Given the description of an element on the screen output the (x, y) to click on. 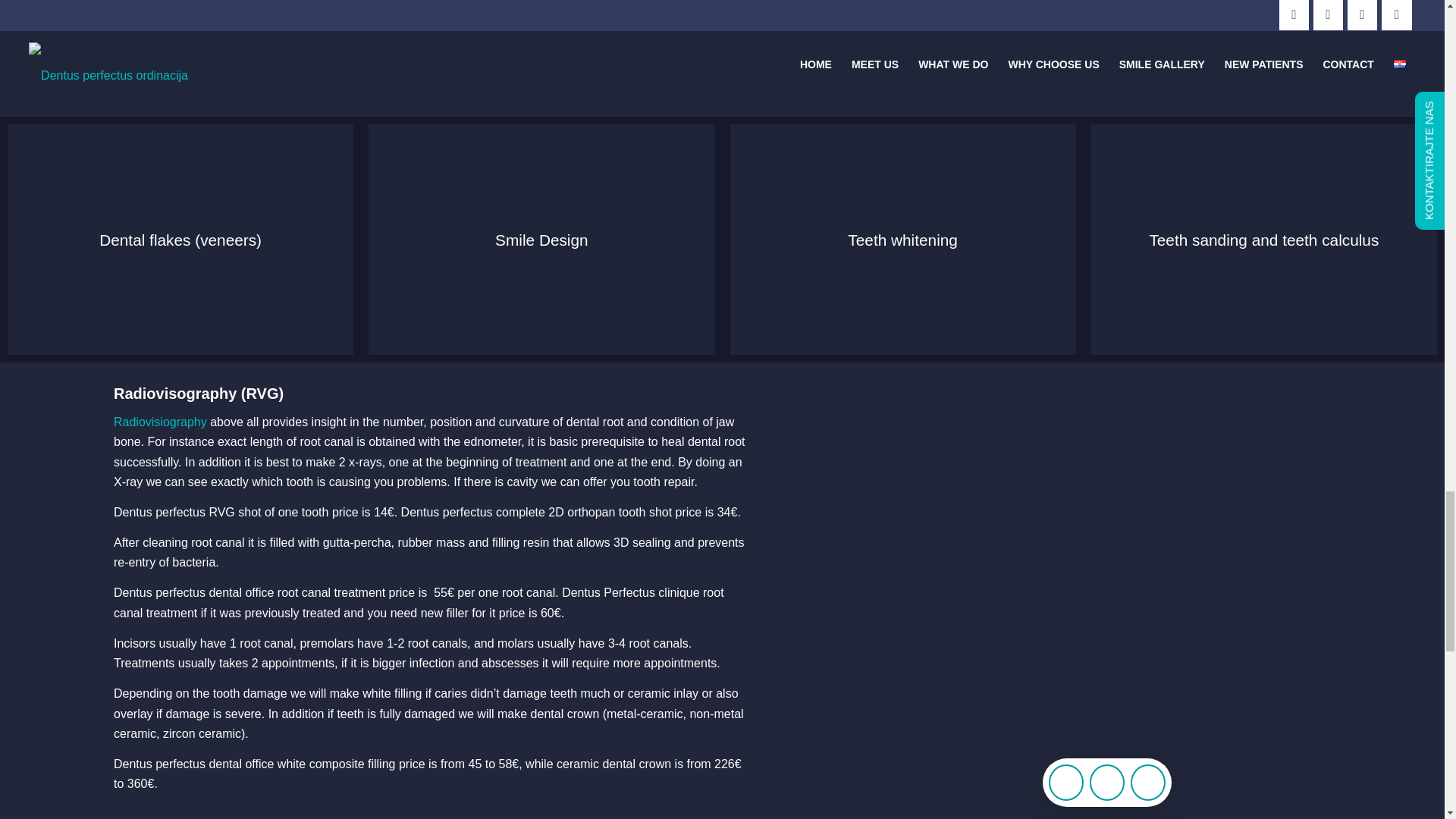
Proper flossing of teeth - Dentus perfectus (1263, 239)
Dentus perfectus cosmetic dentistry (541, 239)
Smile Design (541, 239)
Dentus perfectus - bleaching teeth (902, 239)
Radiovisiography (159, 421)
Teeth sanding and teeth calculus (1263, 239)
aesthetic dentistry Dentus Perfectus veeners (180, 239)
Teeth whitening (902, 239)
